Given the description of an element on the screen output the (x, y) to click on. 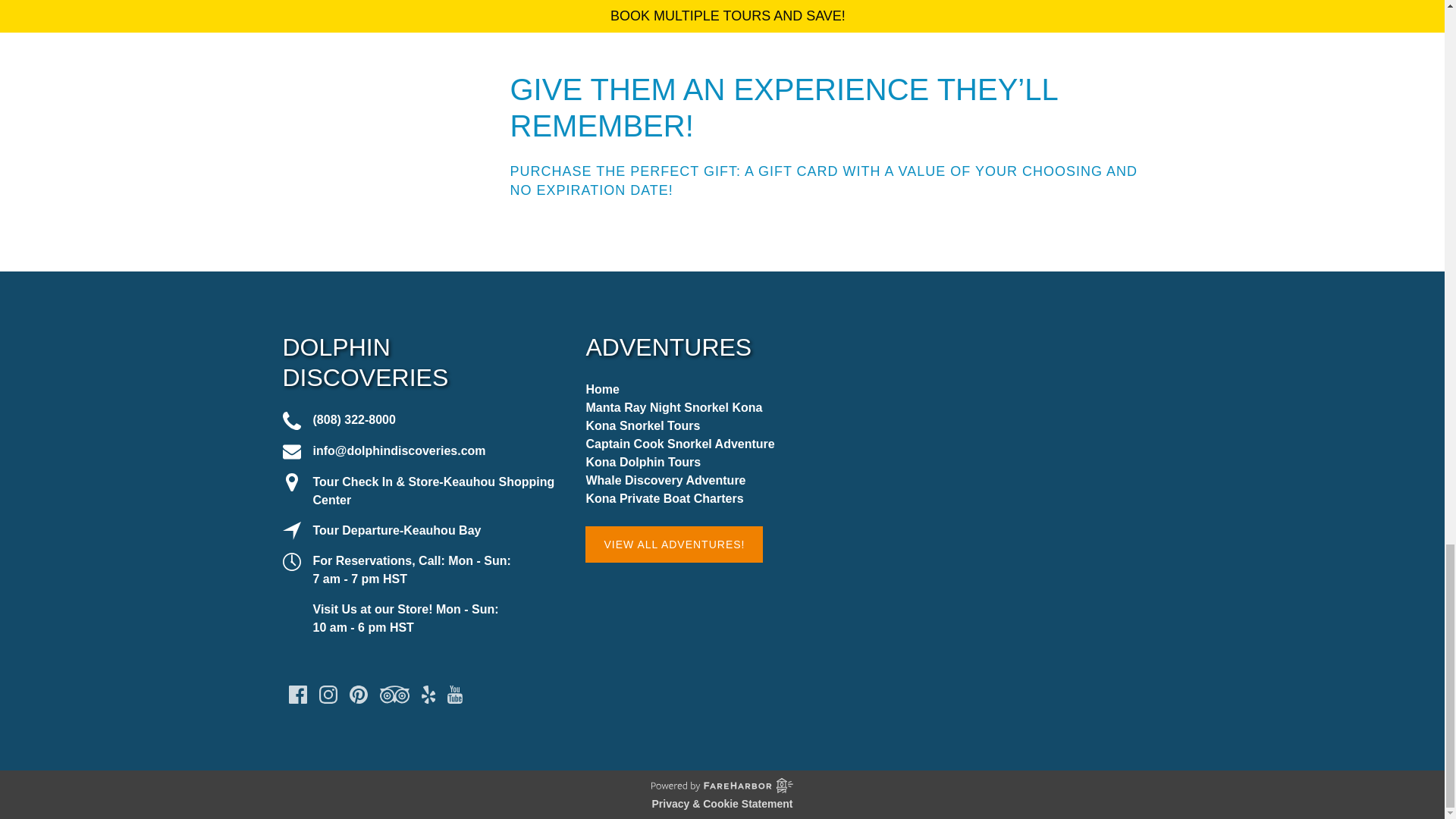
Location (290, 530)
Clock (290, 561)
Map Marker (290, 482)
Envelope (290, 452)
Phone (290, 420)
